Given the description of an element on the screen output the (x, y) to click on. 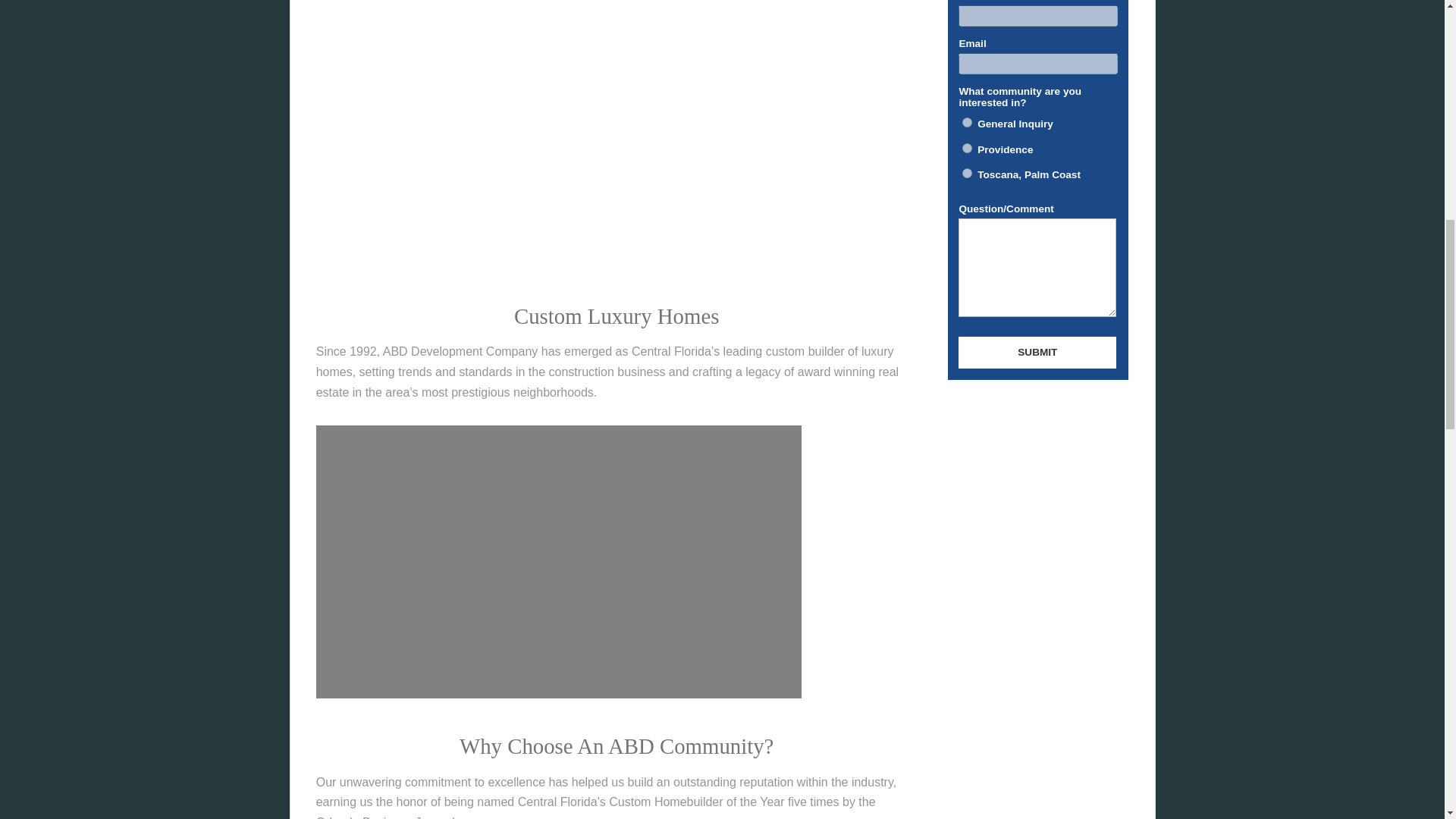
Submit (1037, 352)
Submit (1037, 352)
General Inquiry (967, 122)
Toscana, Palm Coast (967, 173)
Providence (967, 148)
